Given the description of an element on the screen output the (x, y) to click on. 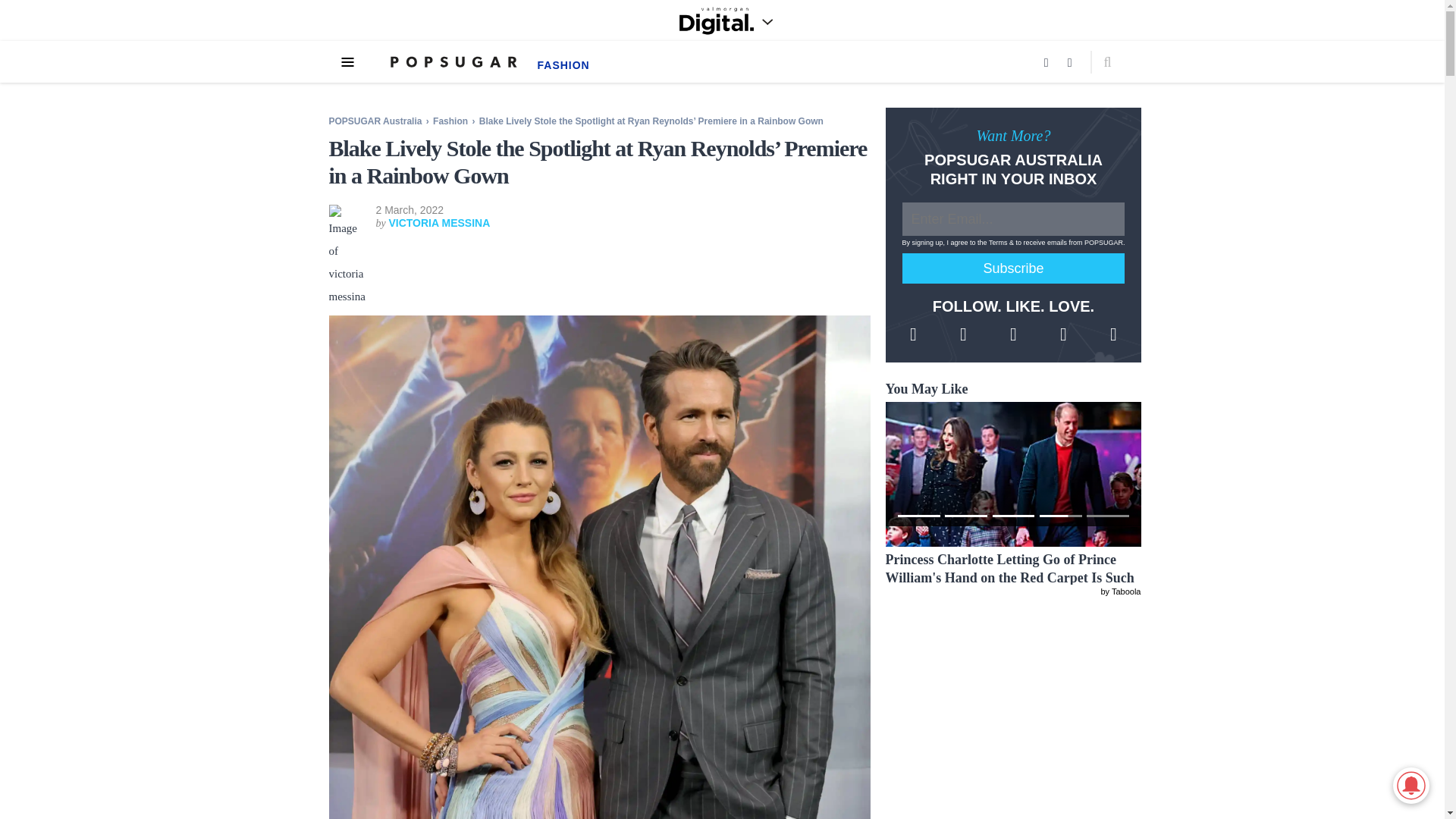
FASHION (563, 64)
VICTORIA MESSINA (438, 223)
Fashion (451, 121)
Subscribe (1013, 268)
POPSUGAR Australia (375, 121)
